Given the description of an element on the screen output the (x, y) to click on. 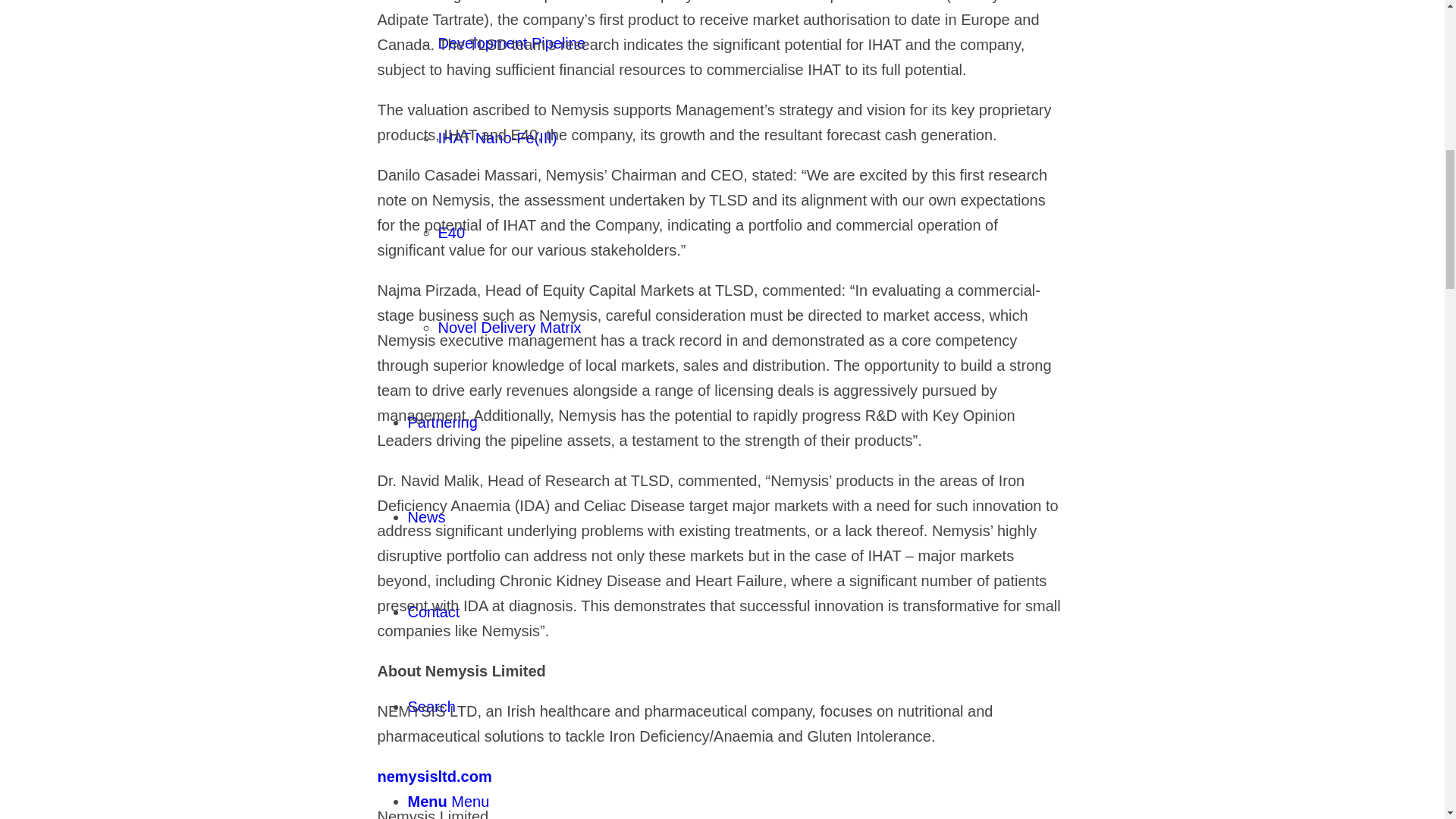
Contact (433, 611)
Development Pipeline (512, 43)
nemysisltd.com (434, 776)
Menu Menu (448, 801)
Partnering (442, 422)
Search (431, 706)
E40 (451, 232)
News (426, 516)
Novel Delivery Matrix (509, 327)
